Given the description of an element on the screen output the (x, y) to click on. 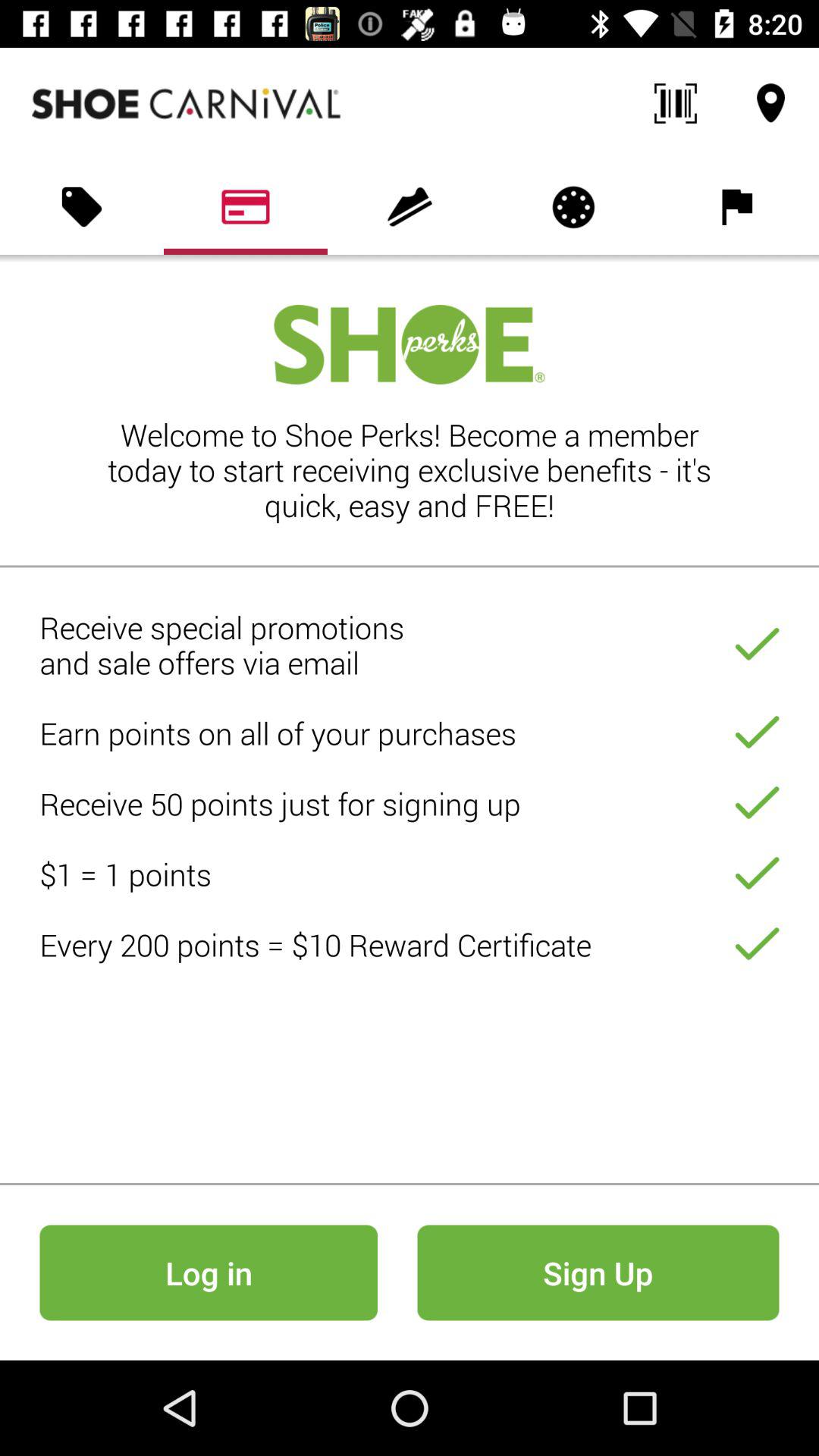
swipe until sign up (598, 1272)
